Given the description of an element on the screen output the (x, y) to click on. 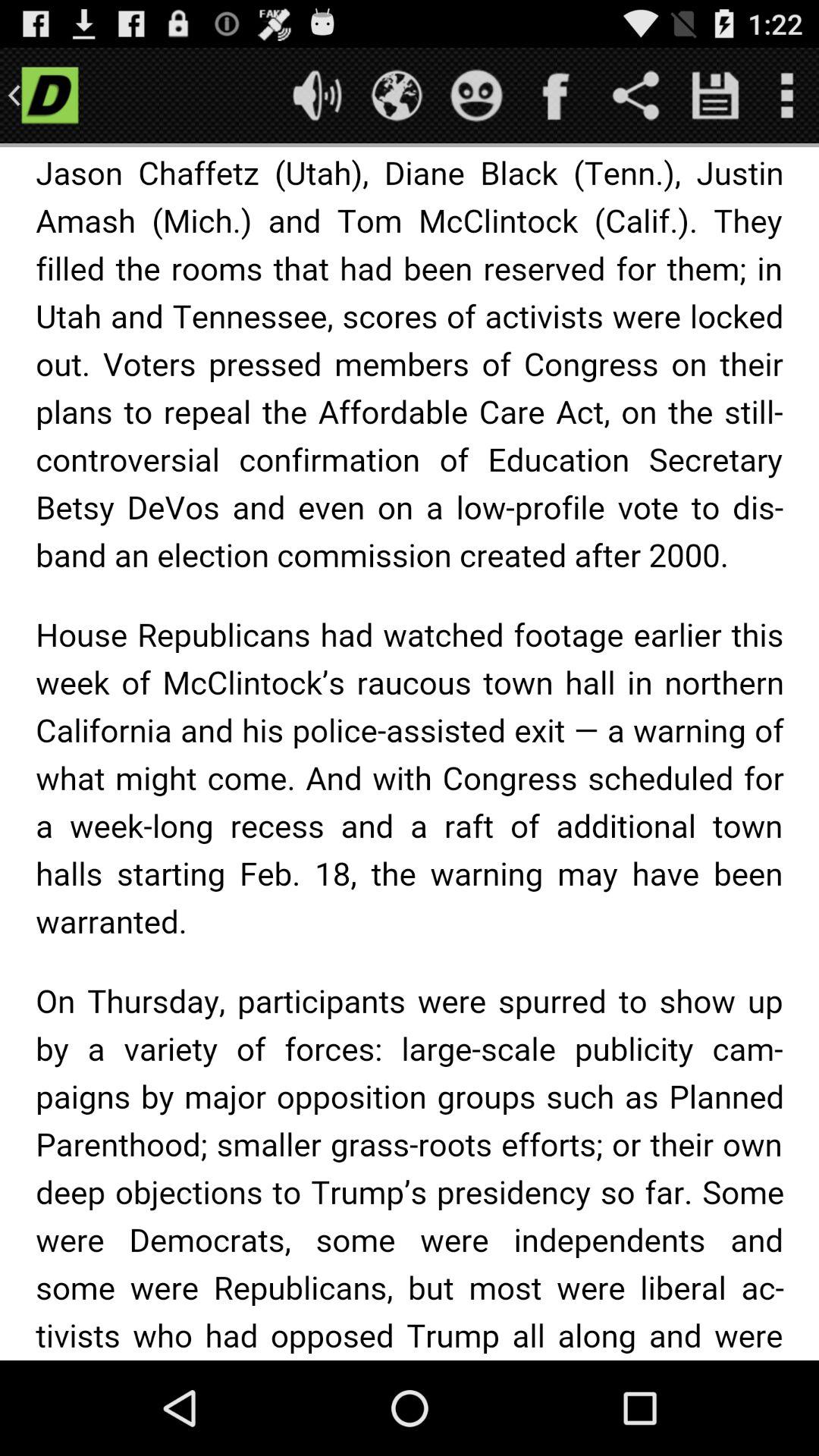
save this information (715, 95)
